Given the description of an element on the screen output the (x, y) to click on. 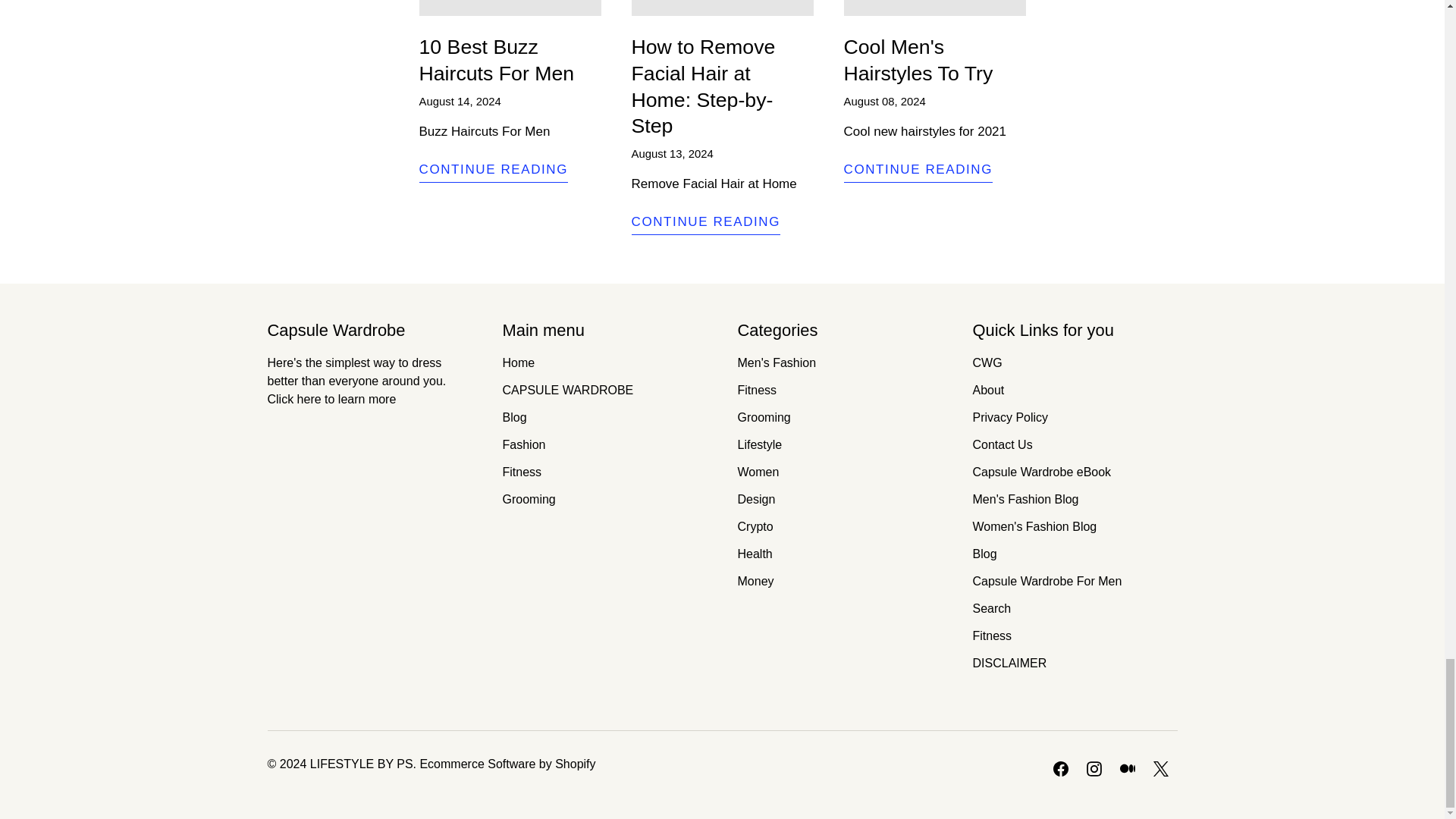
How to Remove Facial Hair at Home: Step-by-Step (705, 223)
Cool Men's Hairstyles To Try (917, 171)
CONTINUE READING (493, 171)
10 Best Buzz Haircuts For Men (496, 60)
10 Best Buzz Haircuts For Men (493, 171)
10 Best Buzz Haircuts For Men (496, 60)
Cool Men's Hairstyles To Try (917, 60)
How to Remove Facial Hair at Home: Step-by-Step (702, 86)
